Given the description of an element on the screen output the (x, y) to click on. 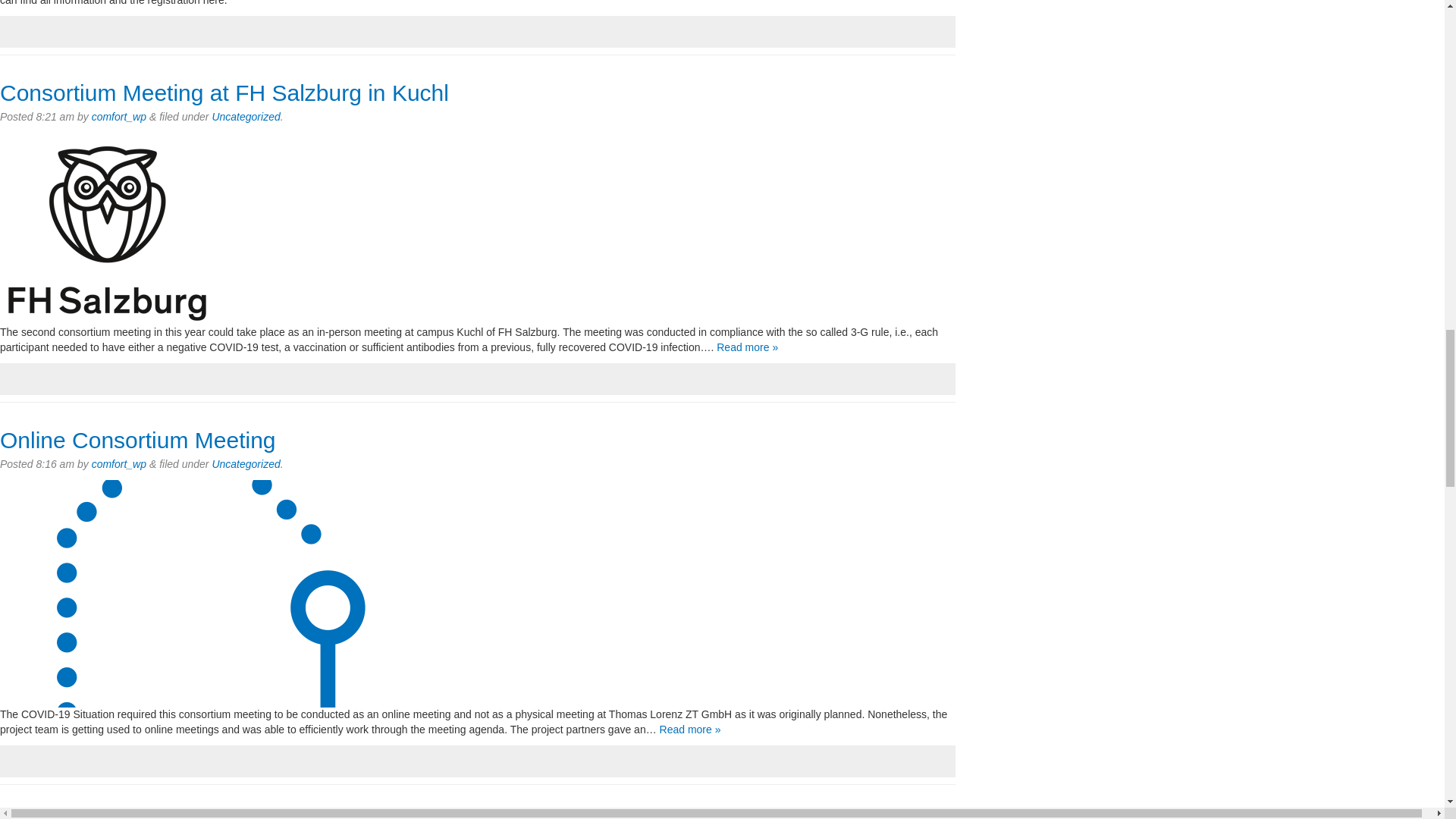
Online Consortium Meeting (138, 439)
Consortium Meeting at FH Salzburg in Kuchl (224, 92)
Uncategorized (245, 463)
Consortium Meeting at FH Salzburg in Kuchl (224, 92)
Uncategorized (245, 116)
COMFORT Publication at e-Nova 2020 (196, 814)
Online Consortium Meeting (138, 439)
Read Online Consortium Meeting (689, 729)
COMFORT Publication at e-Nova 2020 (196, 814)
Read Consortium Meeting at FH Salzburg in Kuchl (746, 346)
